Given the description of an element on the screen output the (x, y) to click on. 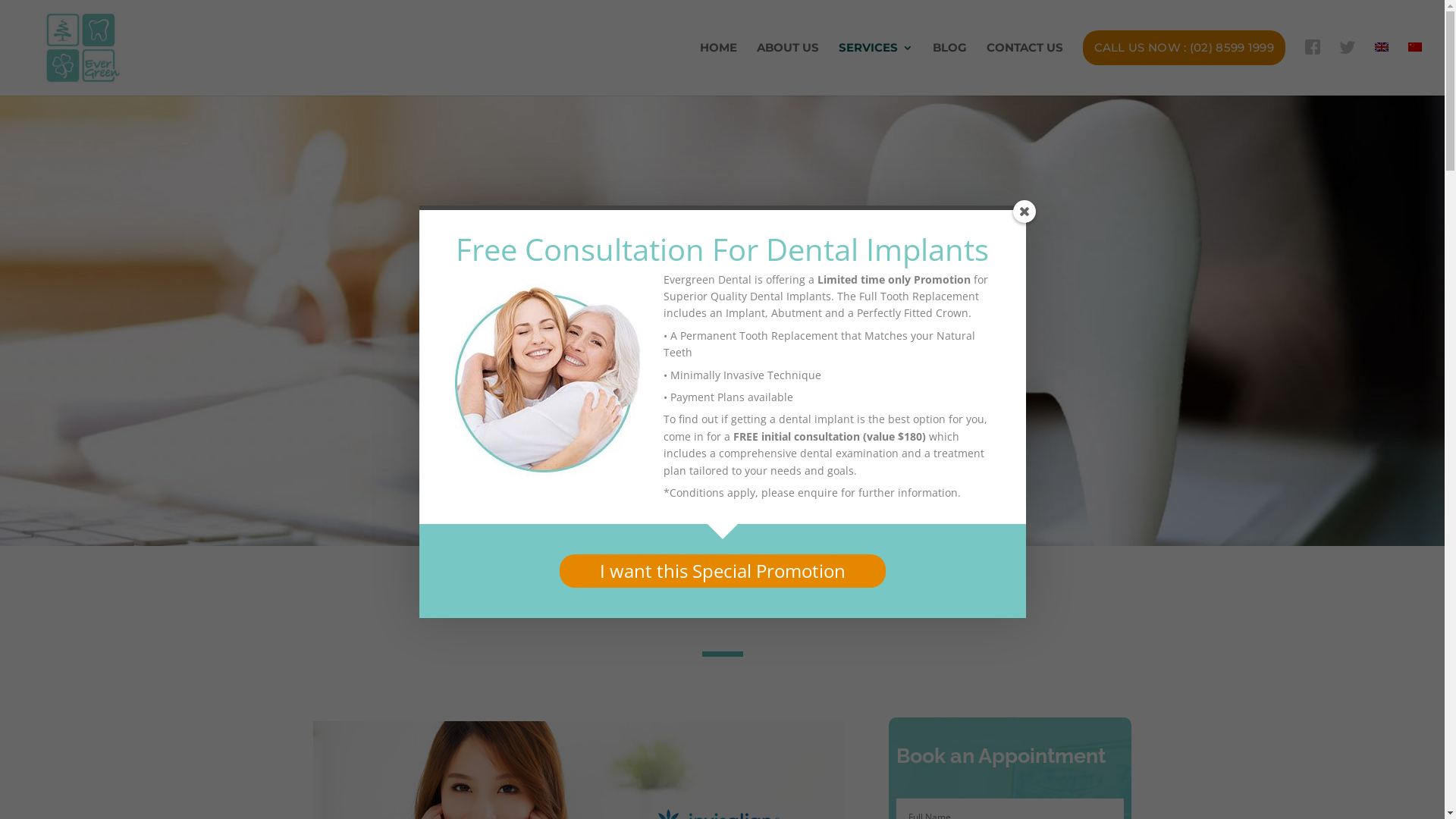
English Element type: hover (1381, 46)
HOME Element type: text (718, 62)
SERVICES Element type: text (875, 62)
BLOG Element type: text (949, 62)
CONTACT US Element type: text (1024, 62)
iStock-1325531389-2048x1365 Element type: hover (722, 320)
I want this Special Promotion Element type: text (722, 570)
ABOUT US Element type: text (787, 62)
CALL US NOW : (02) 8599 1999 Element type: text (1183, 62)
